Given the description of an element on the screen output the (x, y) to click on. 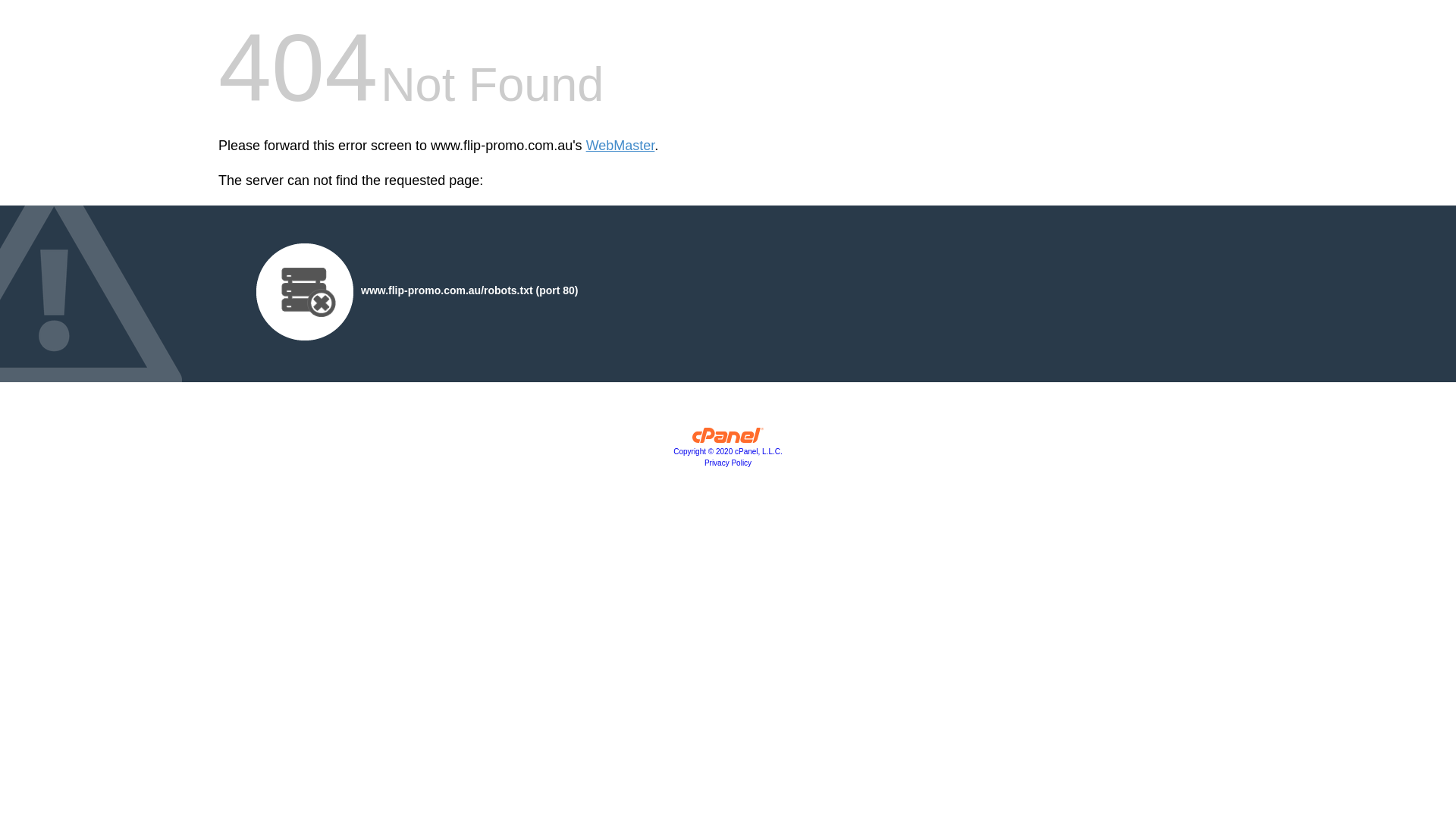
WebMaster Element type: text (620, 145)
Privacy Policy Element type: text (727, 462)
cPanel, Inc. Element type: hover (728, 439)
